Given the description of an element on the screen output the (x, y) to click on. 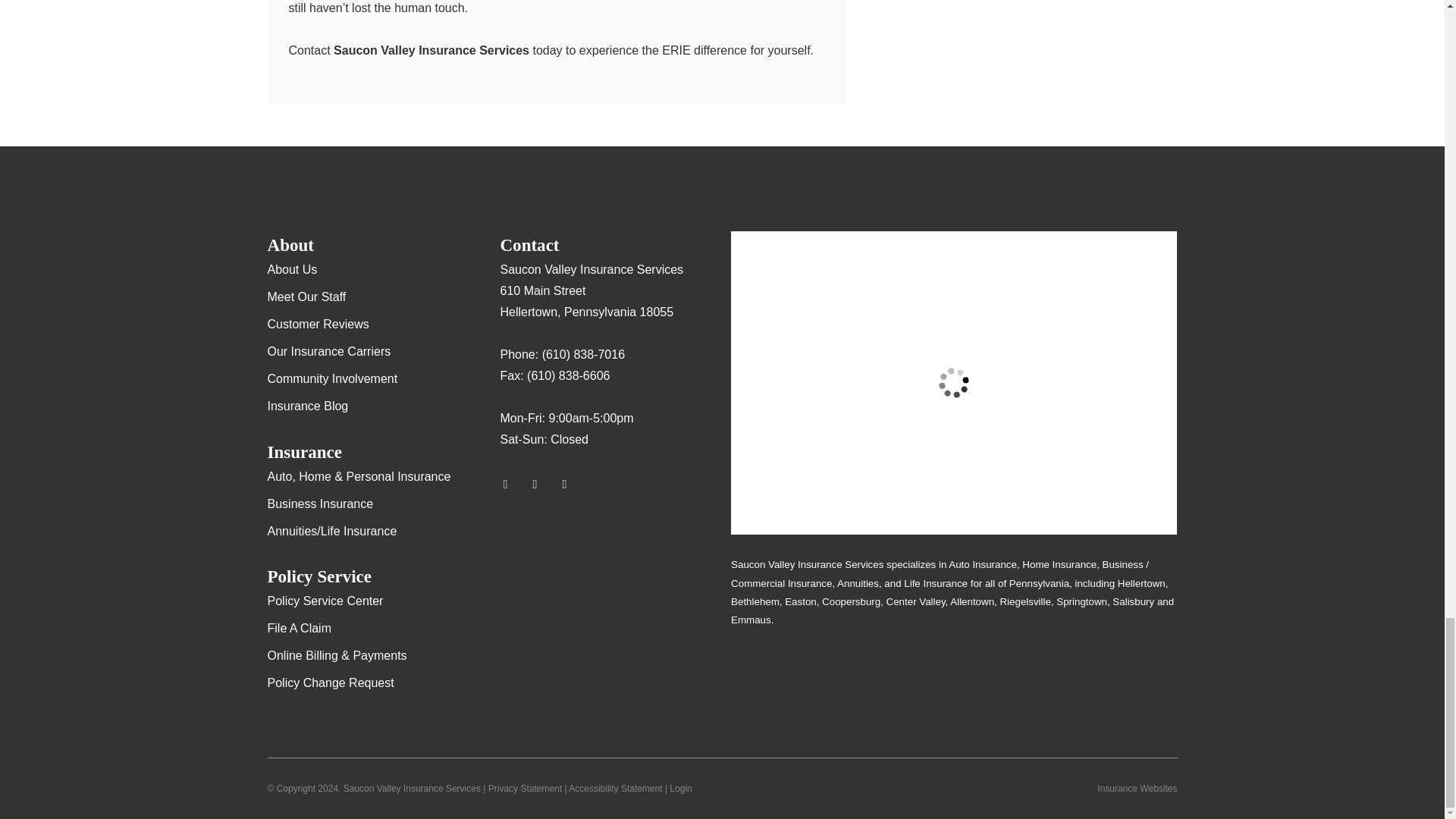
Yelp (541, 484)
Google Maps (511, 484)
Facebook (571, 484)
